Given the description of an element on the screen output the (x, y) to click on. 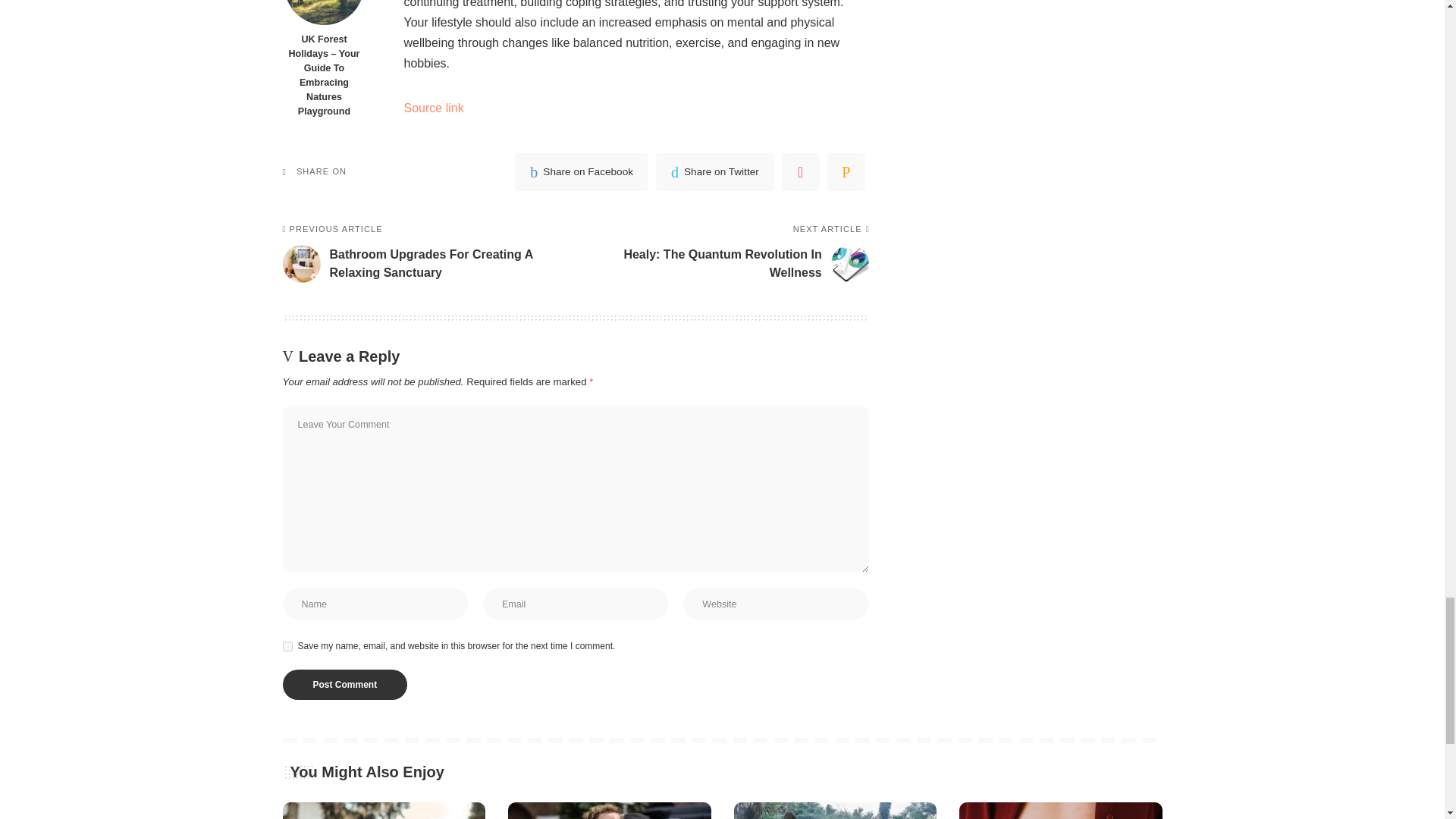
Source link (433, 107)
Share on Twitter (715, 171)
Share on Facebook (581, 171)
yes (287, 646)
Post Comment (344, 684)
